Given the description of an element on the screen output the (x, y) to click on. 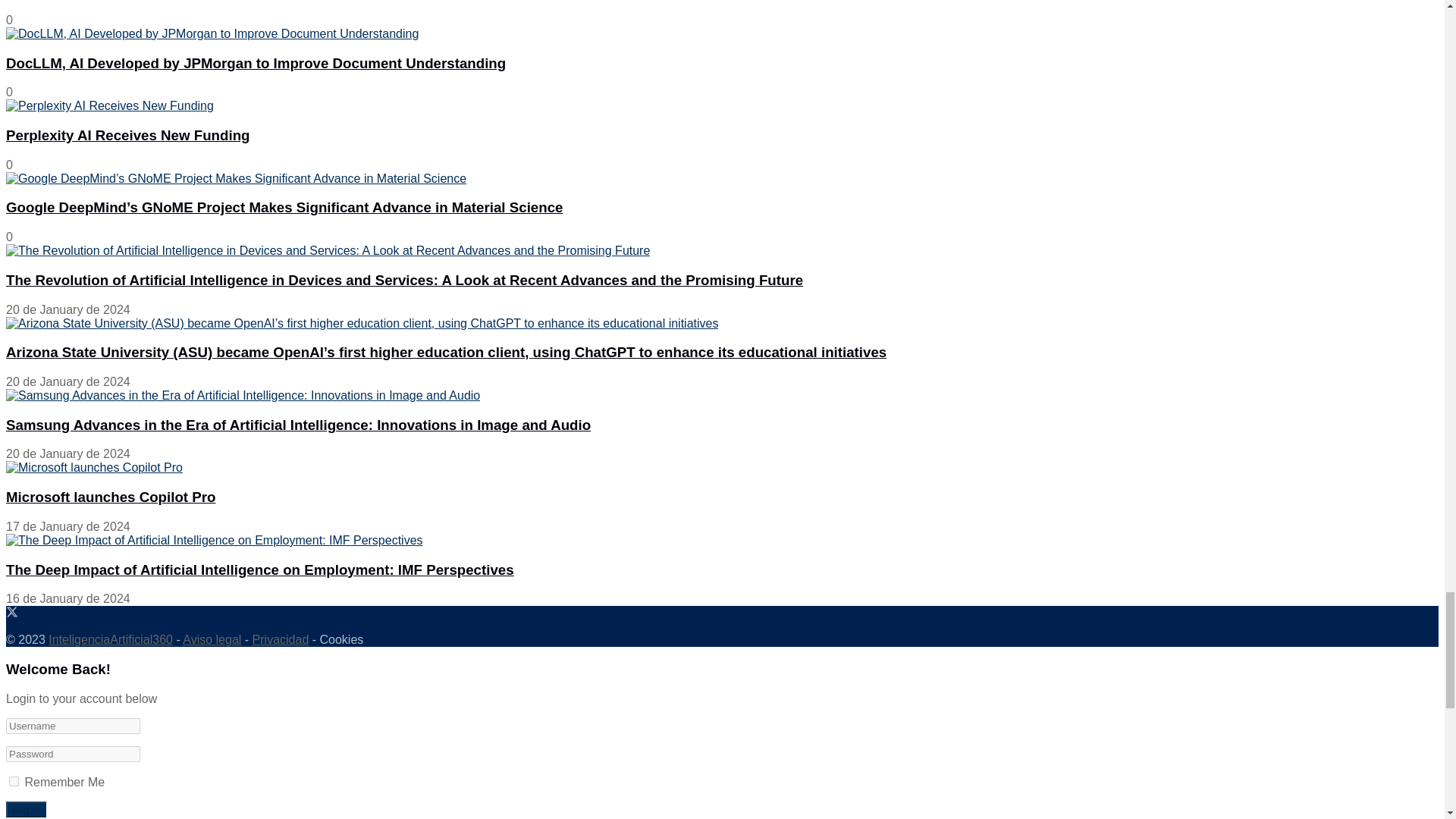
Log In (25, 809)
true (13, 781)
Inteligencia Artificial 360 (110, 639)
